Given the description of an element on the screen output the (x, y) to click on. 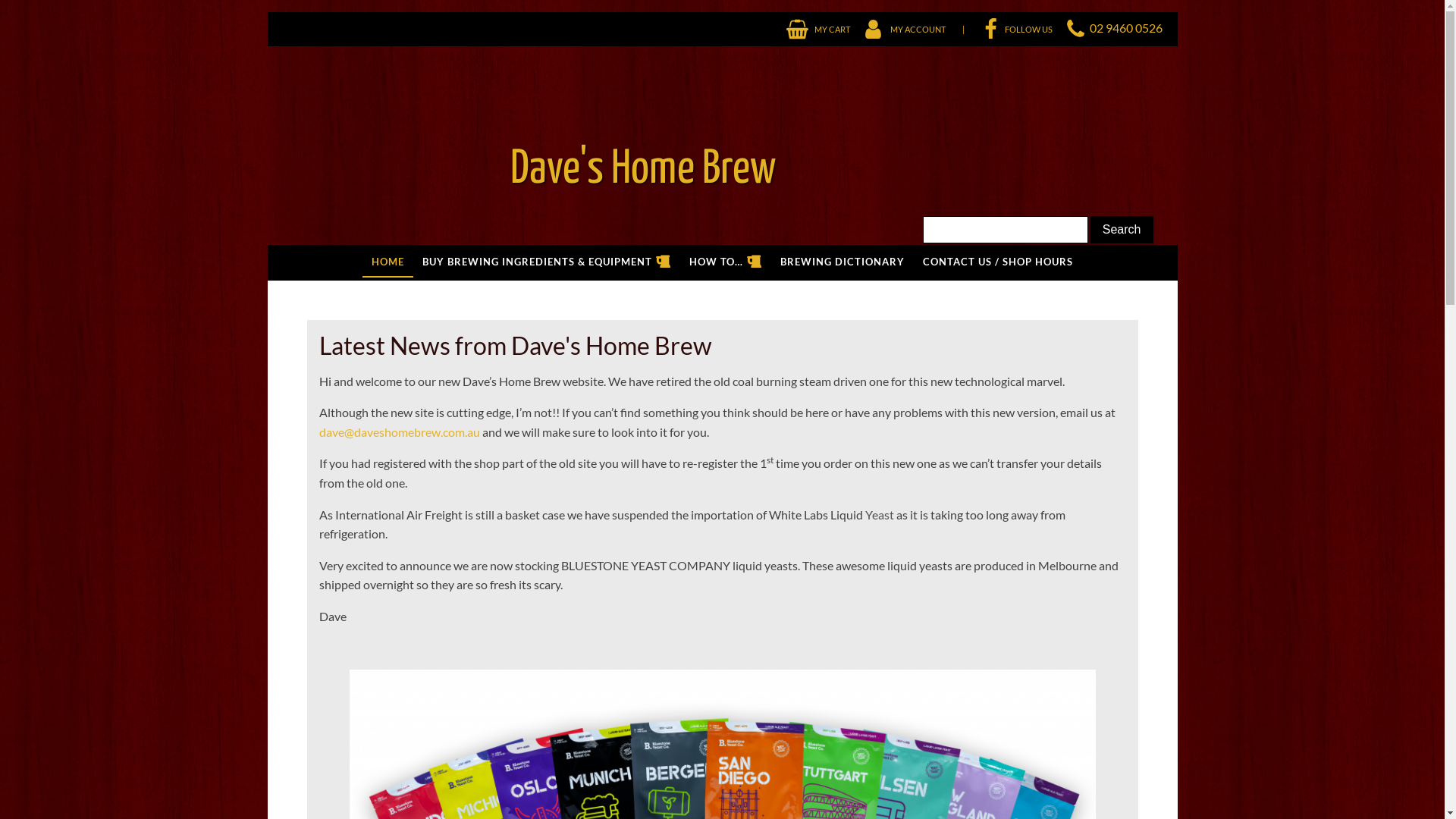
MY CART Element type: text (817, 29)
FOLLOW US Element type: text (1009, 29)
Yeast Element type: text (878, 514)
Search Element type: text (1121, 229)
dave@daveshomebrew.com.au Element type: text (398, 431)
02 9460 0526 Element type: text (1124, 27)
BREWING DICTIONARY Element type: text (842, 262)
BUY BREWING INGREDIENTS & EQUIPMENT Element type: text (546, 262)
HOME Element type: text (387, 262)
Dave's Home Brew Element type: text (520, 145)
CONTACT US / SHOP HOURS Element type: text (997, 262)
MY ACCOUNT           |   Element type: text (907, 29)
